Given the description of an element on the screen output the (x, y) to click on. 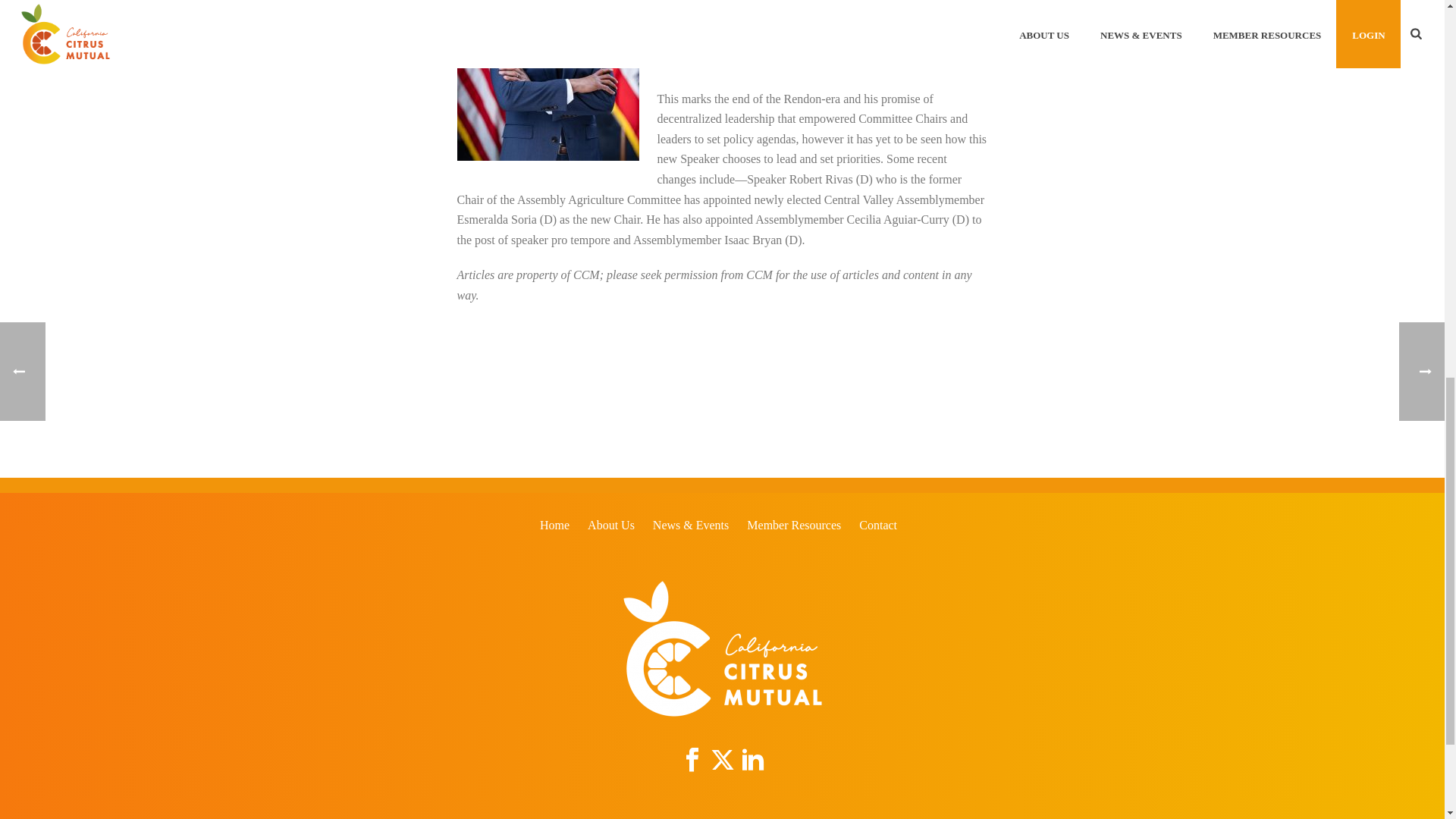
logo-white (721, 648)
